Given the description of an element on the screen output the (x, y) to click on. 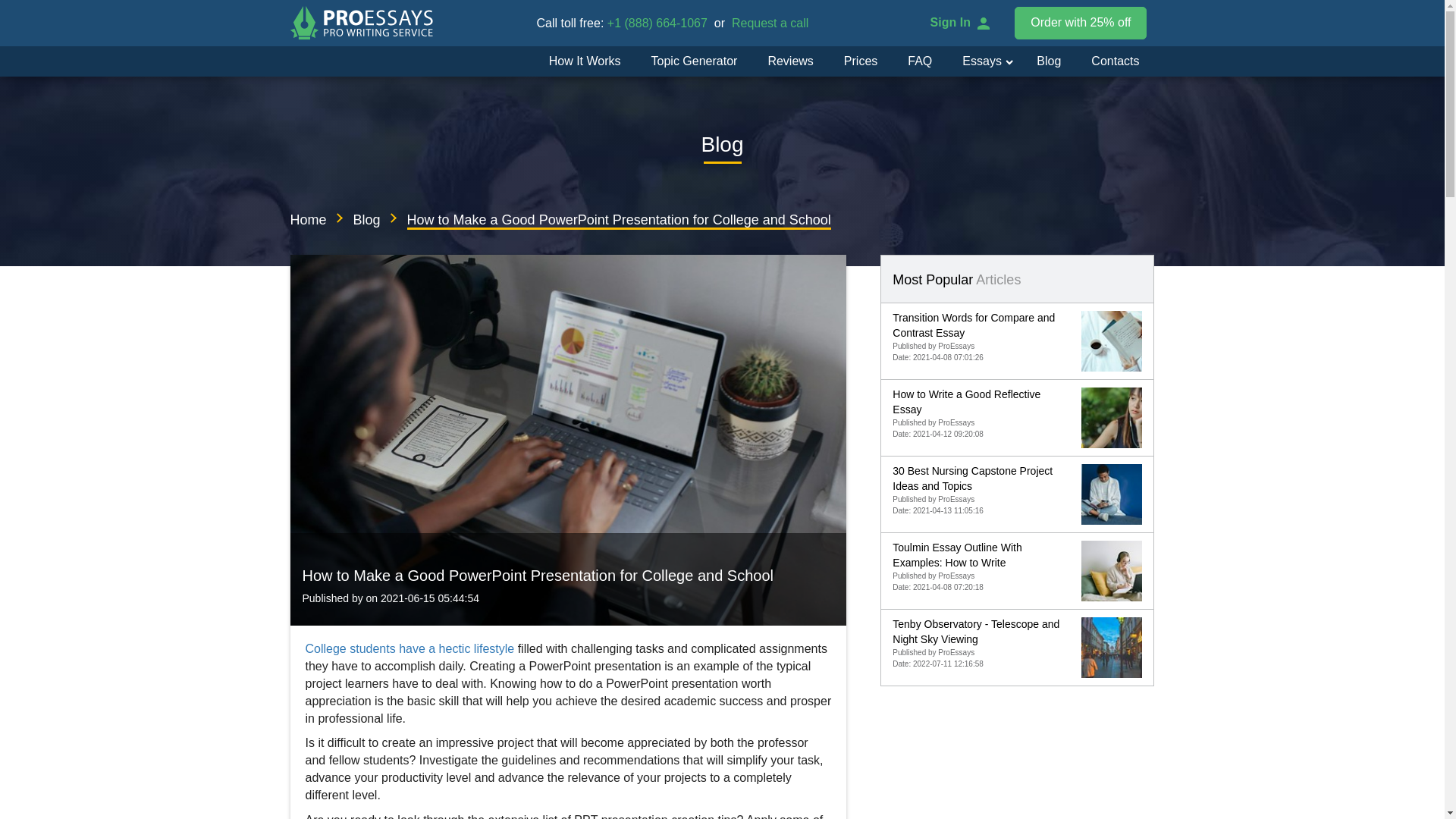
Topic Generator (694, 60)
Essays (975, 60)
Reviews (790, 60)
FAQ (919, 60)
Prices (860, 60)
How It Works (585, 60)
Blog (1048, 60)
Contacts (1114, 60)
